Given the description of an element on the screen output the (x, y) to click on. 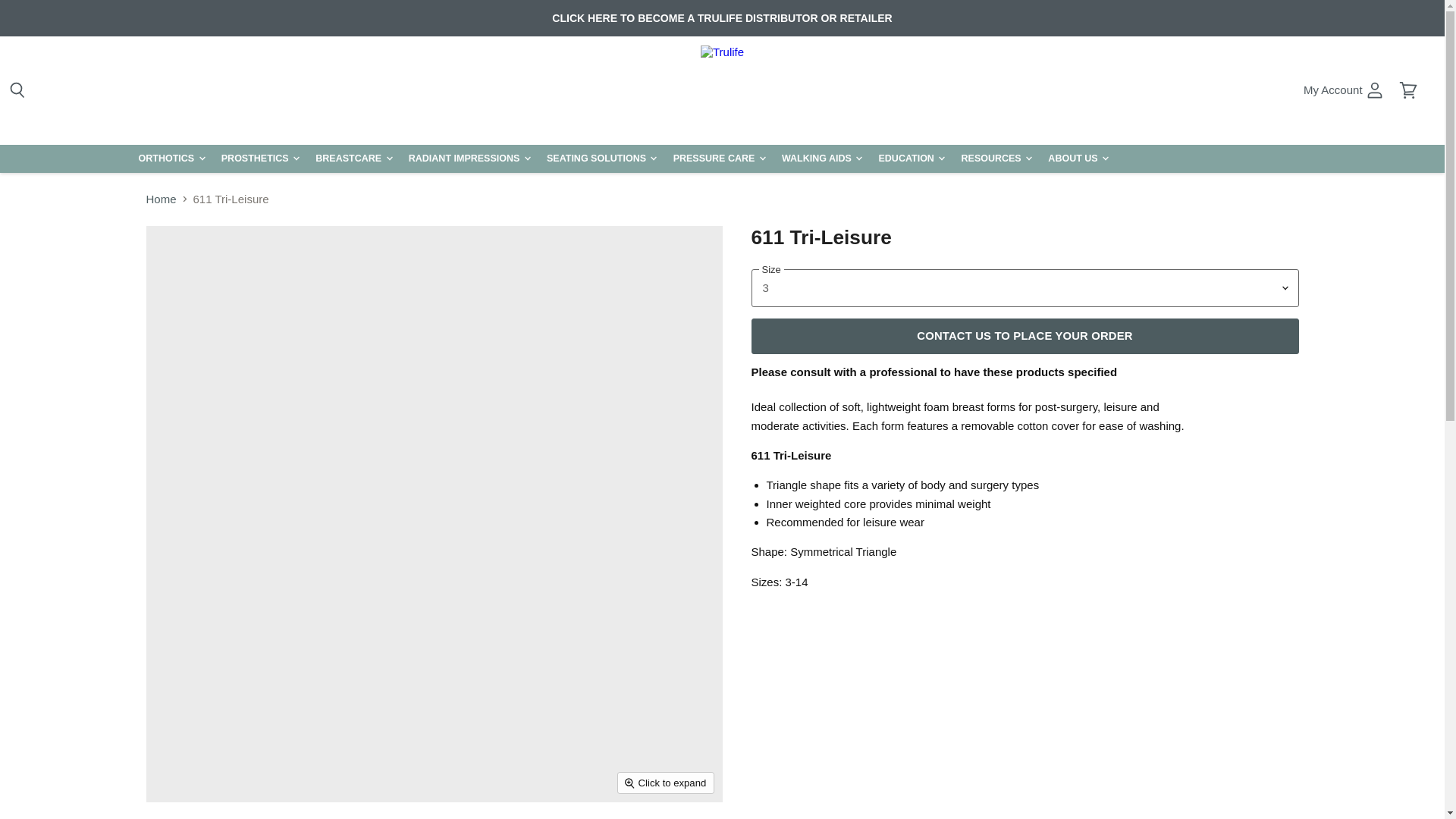
Search (17, 90)
ORTHOTICS (170, 158)
View cart (1343, 90)
Account icon (1408, 90)
